Given the description of an element on the screen output the (x, y) to click on. 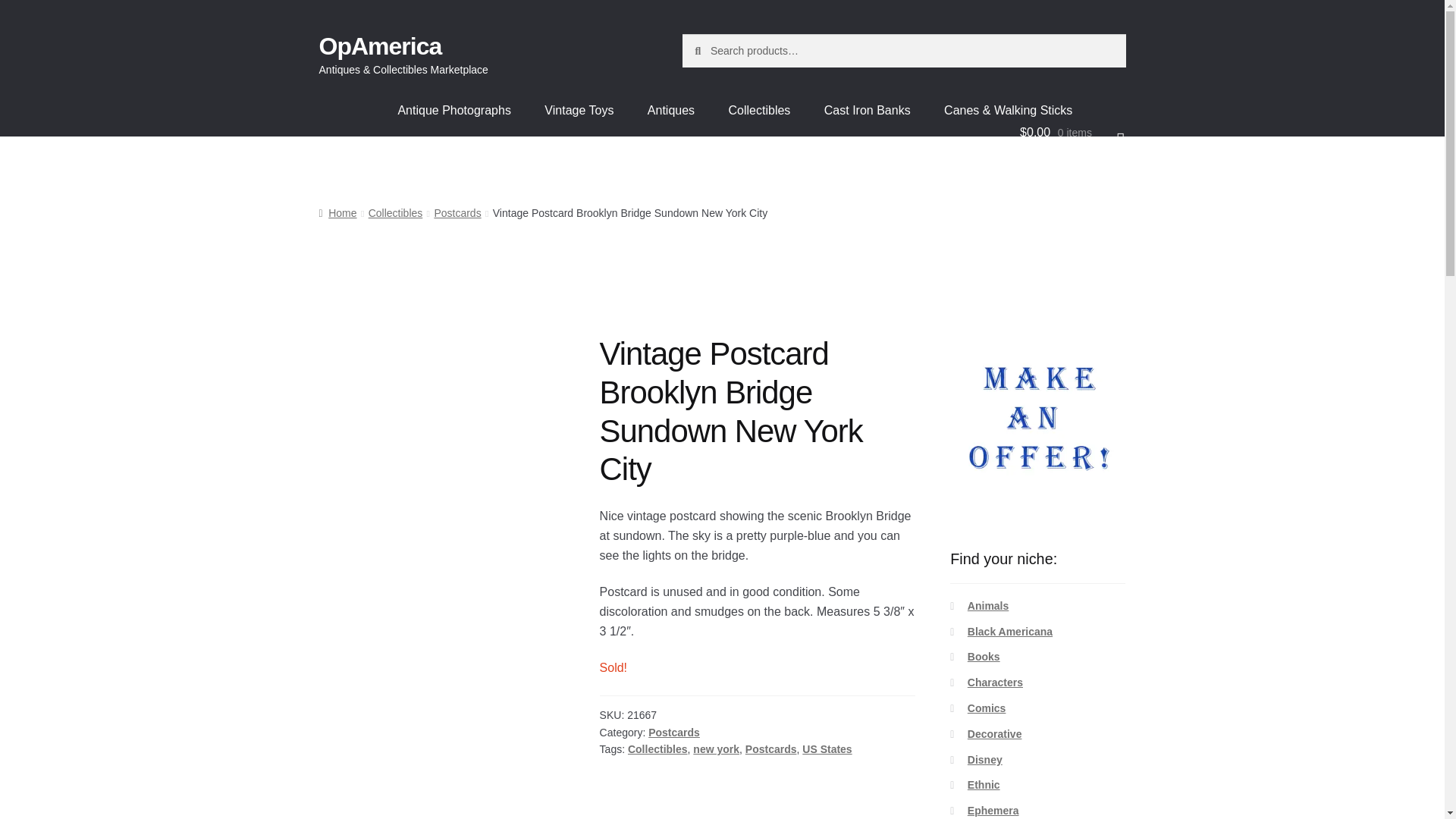
Antique Photographs (453, 110)
Cast Iron Banks (867, 110)
View your shopping cart (1071, 132)
Black Americana (1010, 631)
OpAmerica (380, 45)
new york (716, 748)
Collectibles (759, 110)
Home (337, 213)
Vintage Toys (578, 110)
Antiques (670, 110)
Collectibles (657, 748)
Postcards (673, 732)
Make an Offer (1037, 422)
Postcards (456, 213)
